Given the description of an element on the screen output the (x, y) to click on. 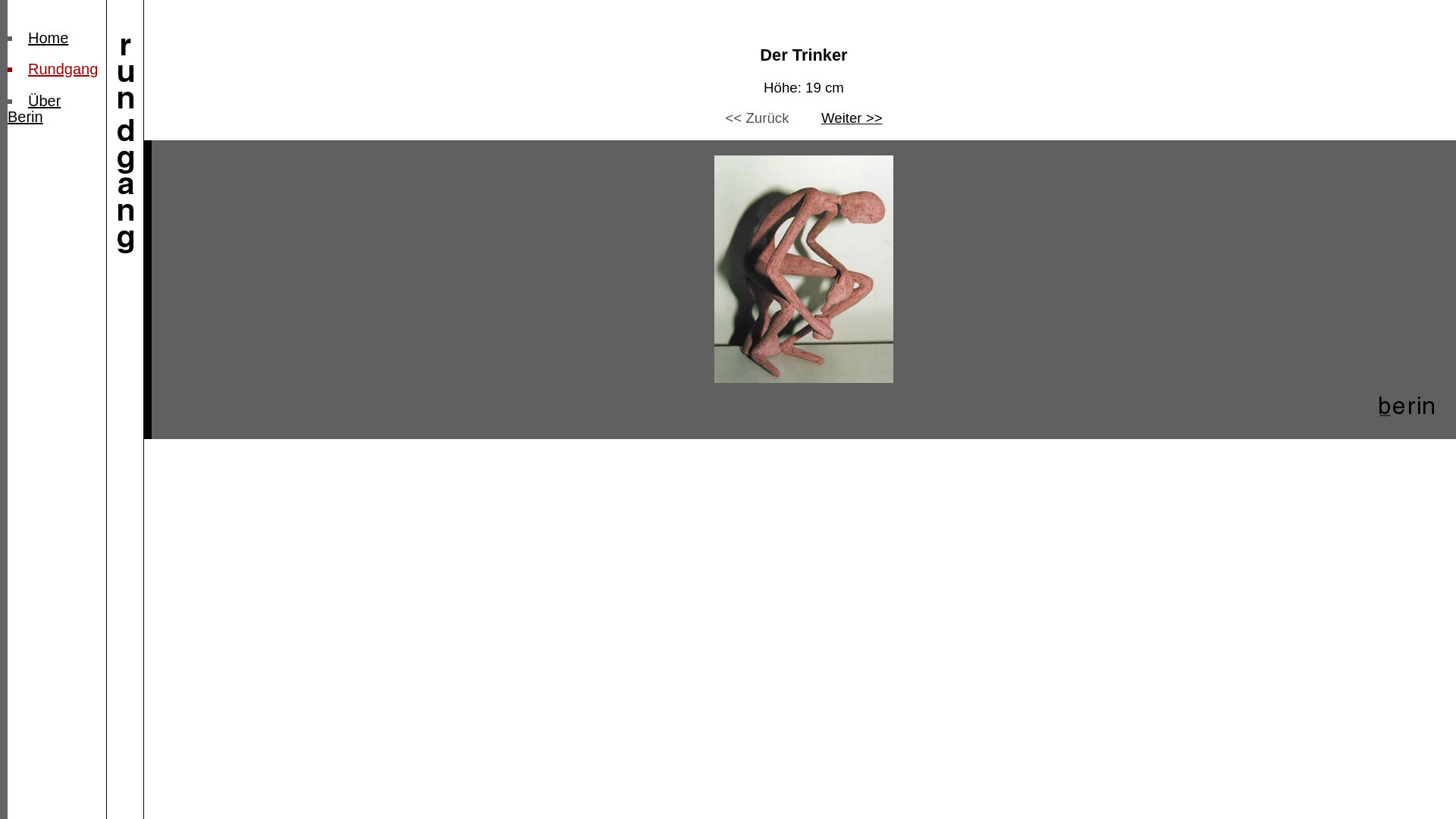
Home Element type: text (48, 37)
Rundgang Element type: text (62, 68)
Weiter >> Element type: text (851, 117)
